Given the description of an element on the screen output the (x, y) to click on. 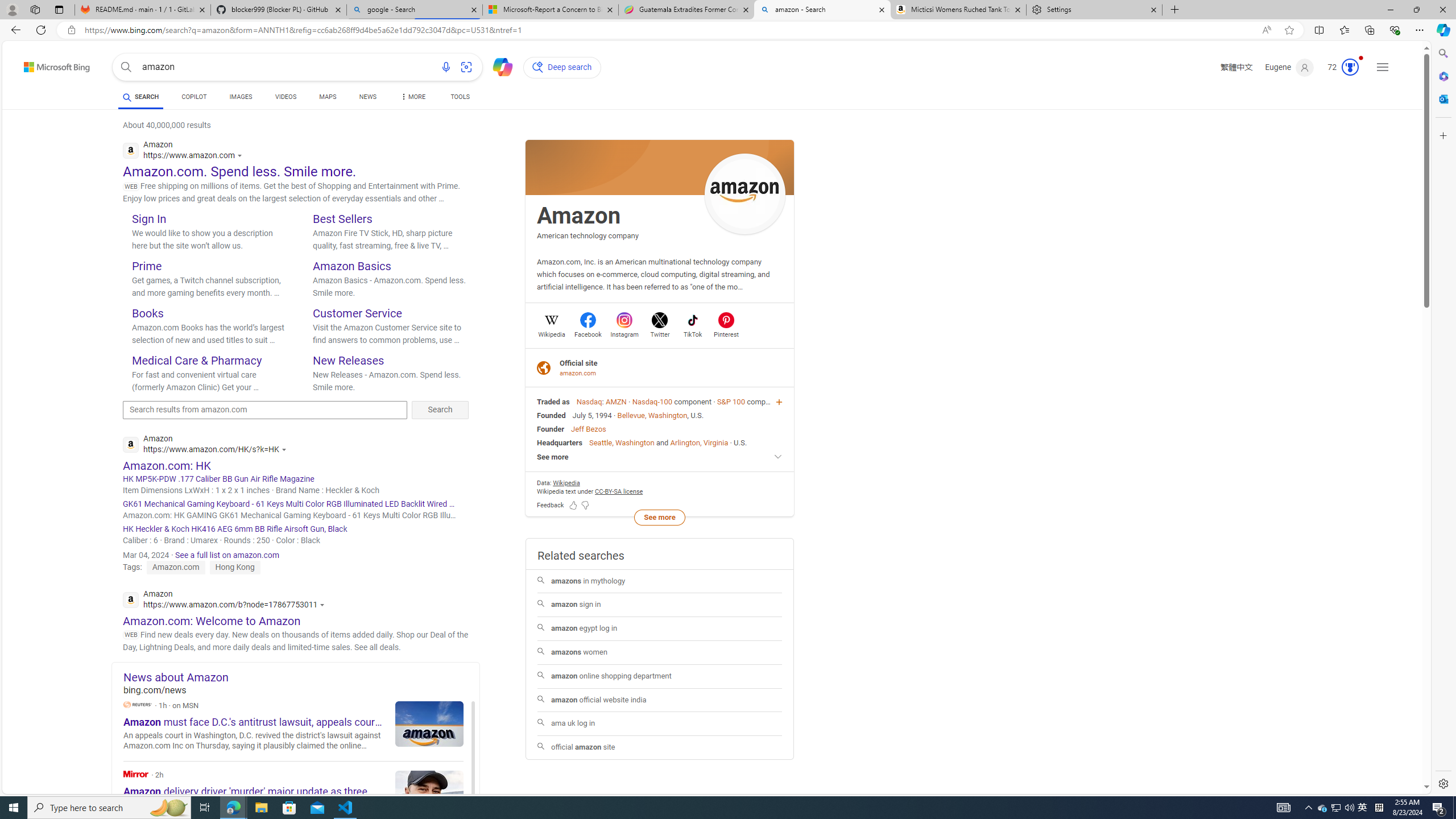
Chat (497, 65)
Books (147, 313)
Data attribution Wikipedia (566, 482)
Traded as (553, 401)
Class: spl_logobg (659, 167)
amazon - Search (822, 9)
amazon sign in (659, 604)
Headquarters (559, 442)
